Given the description of an element on the screen output the (x, y) to click on. 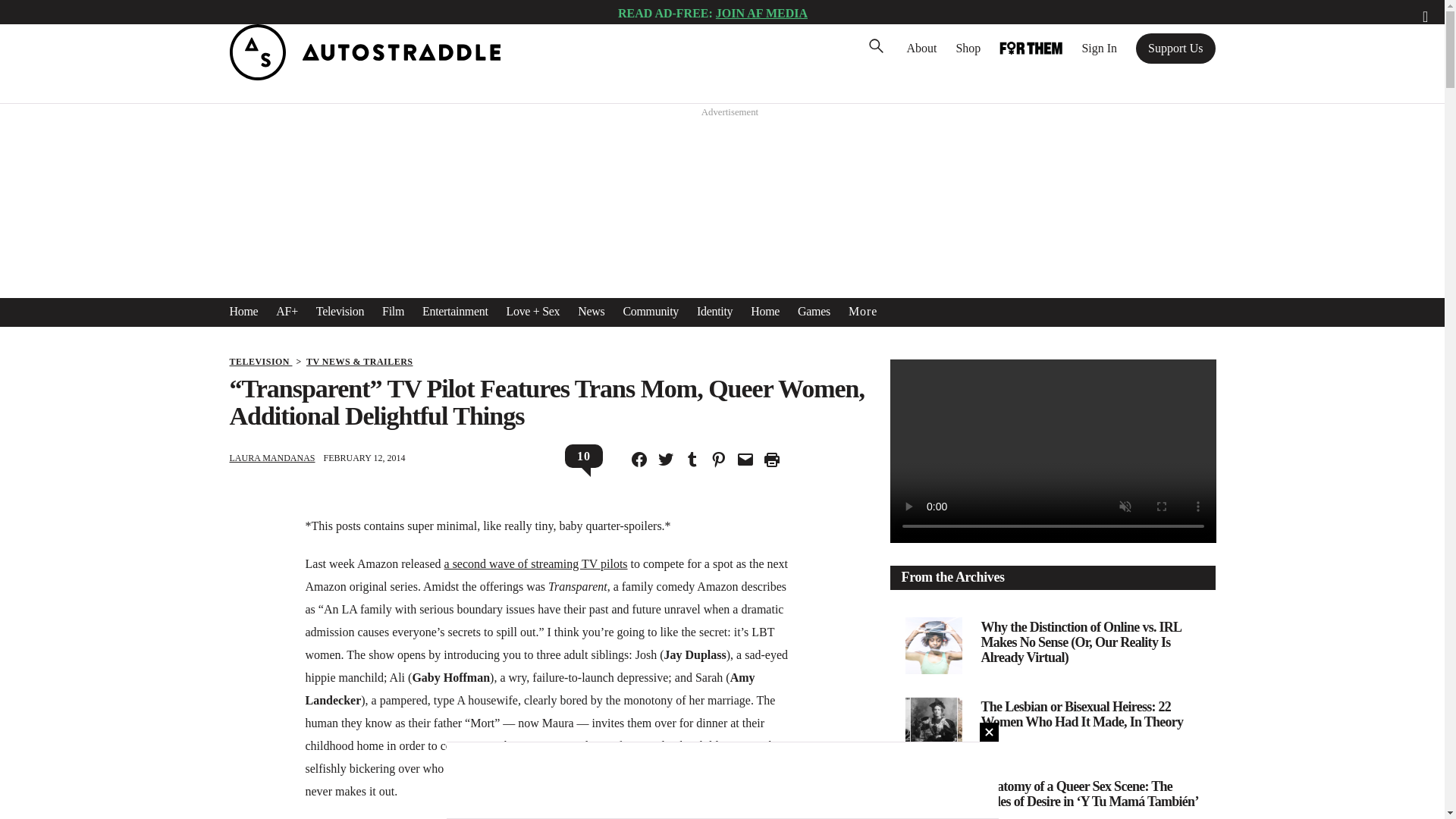
Autostraddle (363, 75)
JOIN AF MEDIA (762, 12)
Sign In (1098, 48)
Home (242, 311)
Posts by Laura Mandanas (271, 457)
Shop (967, 48)
Television (339, 311)
Search (34, 15)
